Given the description of an element on the screen output the (x, y) to click on. 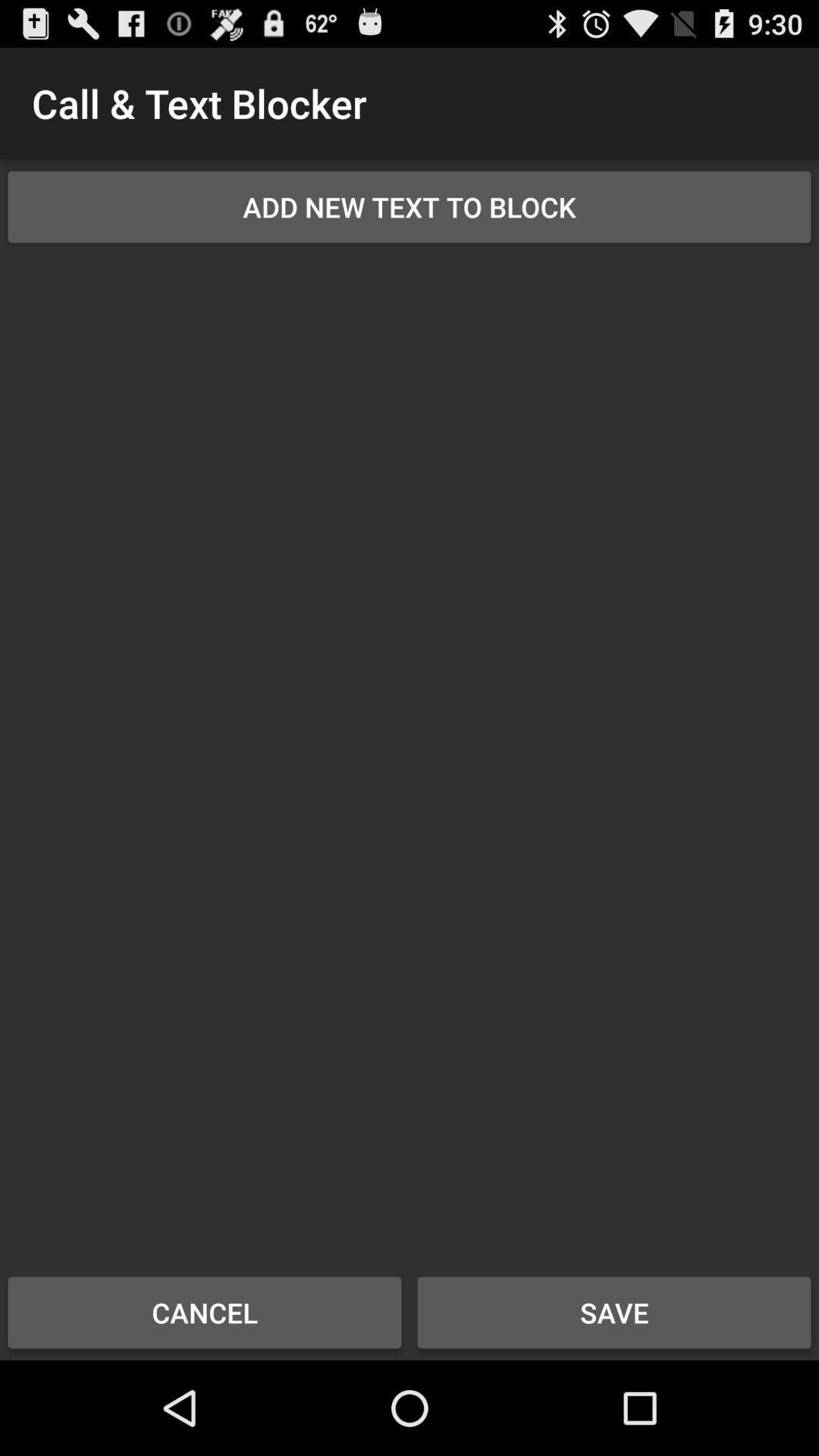
press the item to the left of the save icon (204, 1312)
